Given the description of an element on the screen output the (x, y) to click on. 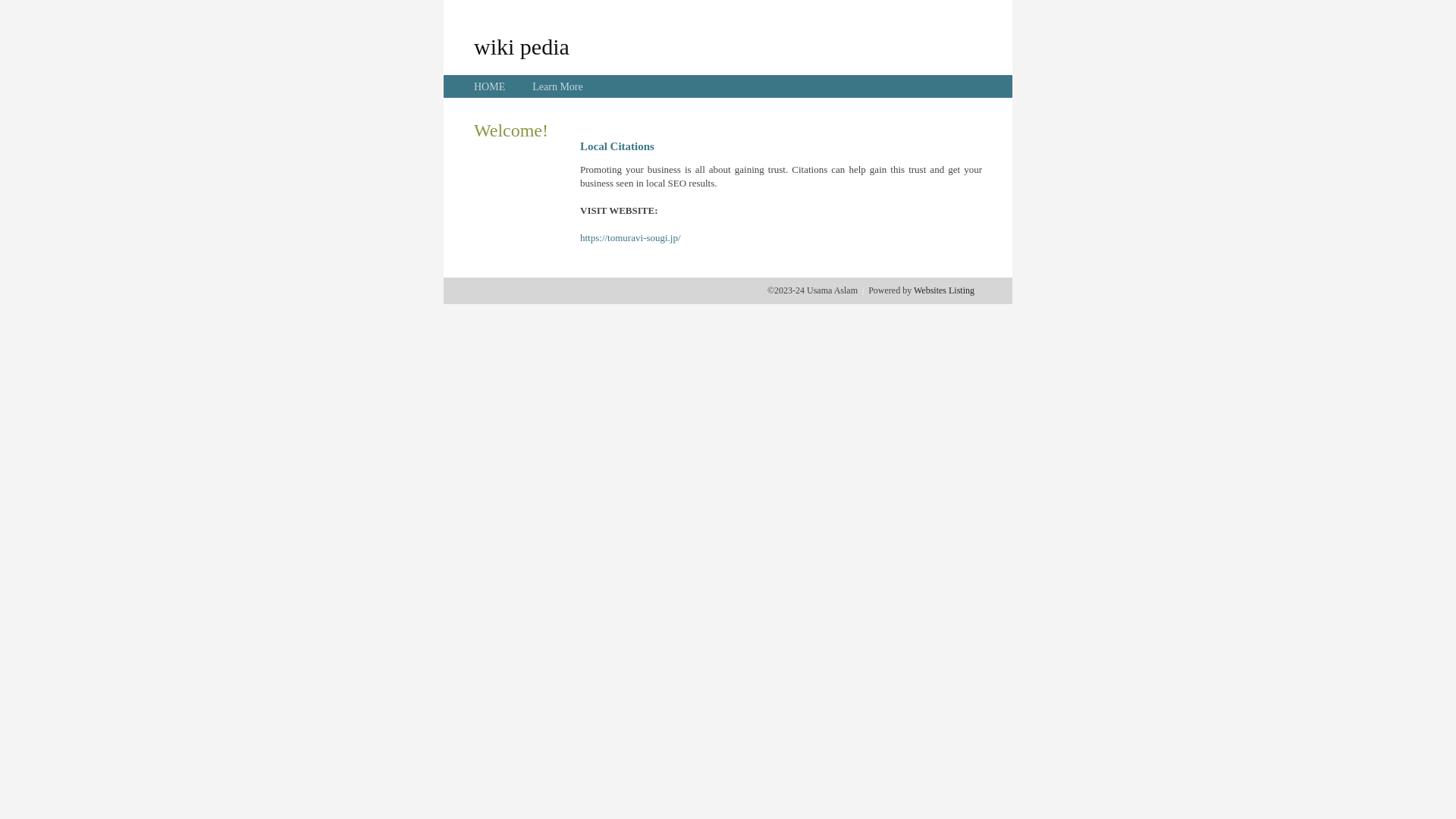
https://tomuravi-sougi.jp/ Element type: text (630, 237)
Learn More Element type: text (557, 86)
wiki pedia Element type: text (521, 46)
Websites Listing Element type: text (943, 290)
HOME Element type: text (489, 86)
